Given the description of an element on the screen output the (x, y) to click on. 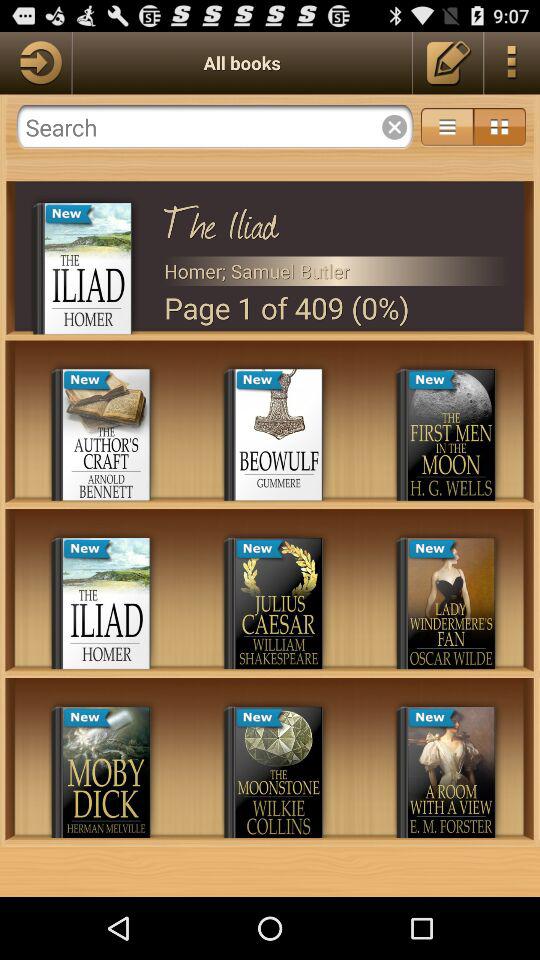
press item below the iliad icon (336, 270)
